Given the description of an element on the screen output the (x, y) to click on. 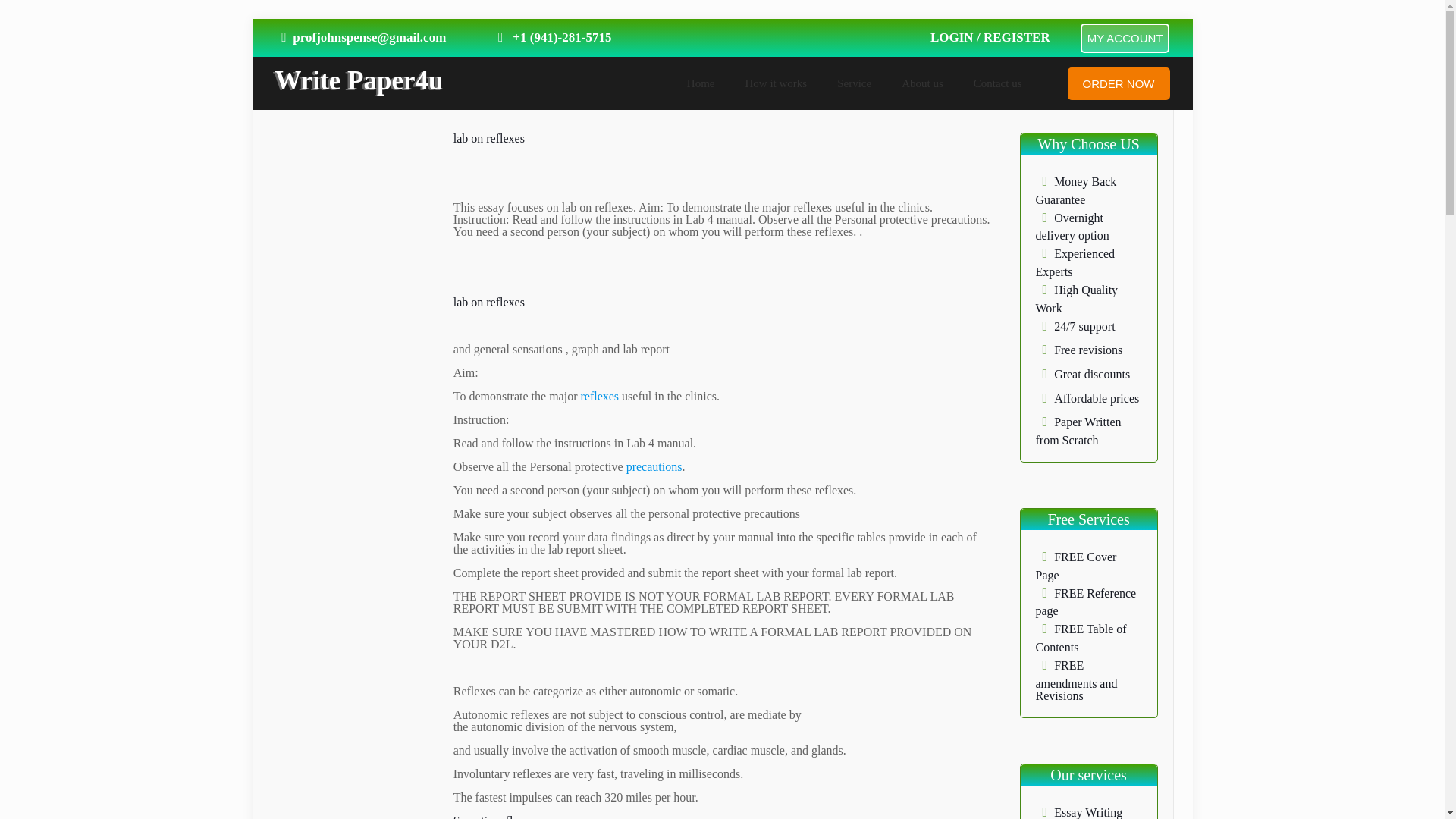
How it works (775, 82)
precautions (652, 466)
Service (854, 82)
Home (700, 82)
Write Paper4u (358, 80)
REGISTER (1016, 37)
About us (922, 82)
ORDER NOW (1118, 82)
Contact us (997, 82)
reflexes (597, 395)
